Given the description of an element on the screen output the (x, y) to click on. 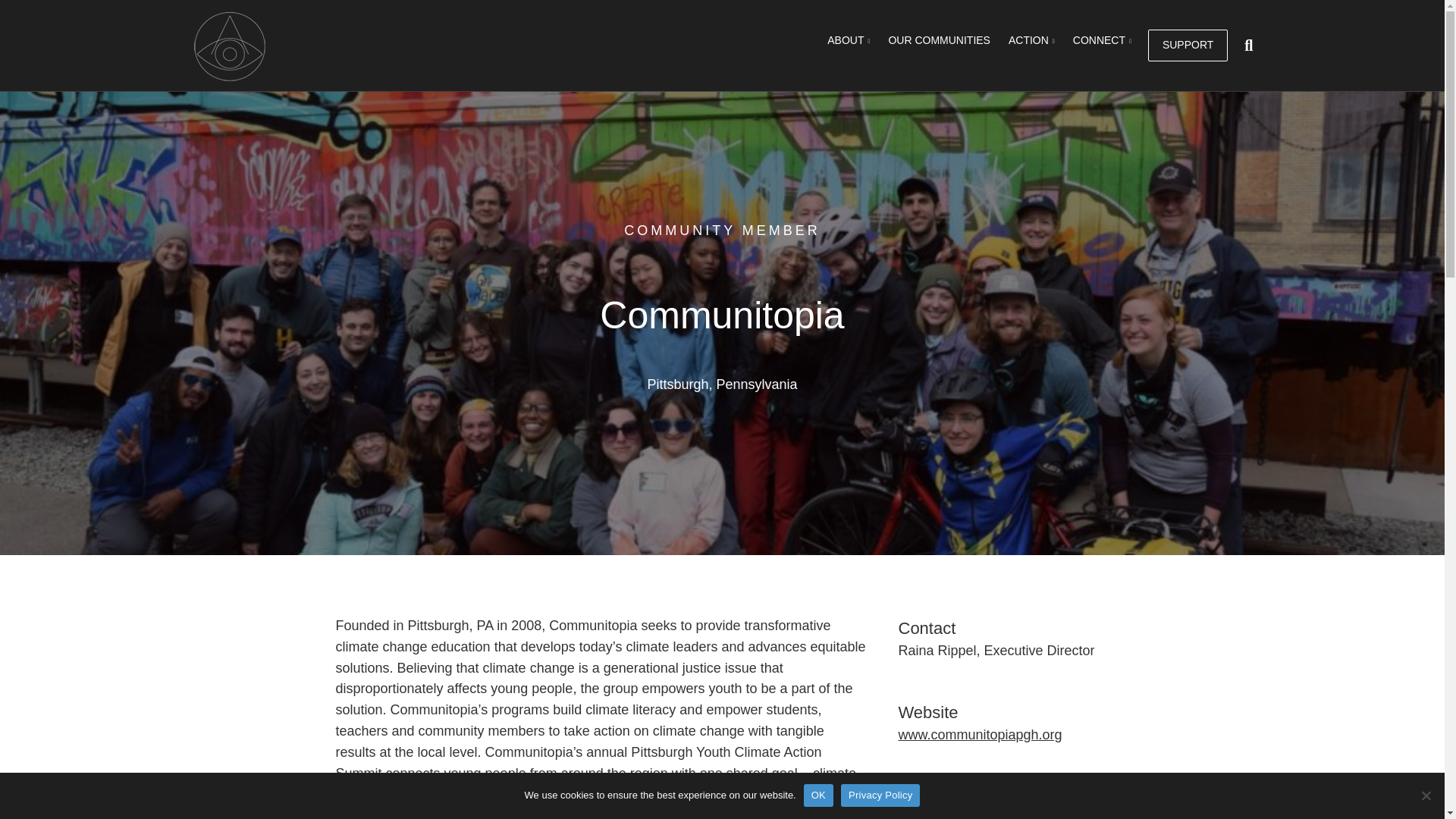
CONNECT (1102, 40)
www.communitopiapgh.org (979, 734)
No (1425, 795)
OUR COMMUNITIES (938, 40)
ABOUT (848, 40)
www.communitopiapgh.org (979, 734)
ACTION (1031, 40)
SUPPORT (1187, 45)
